Given the description of an element on the screen output the (x, y) to click on. 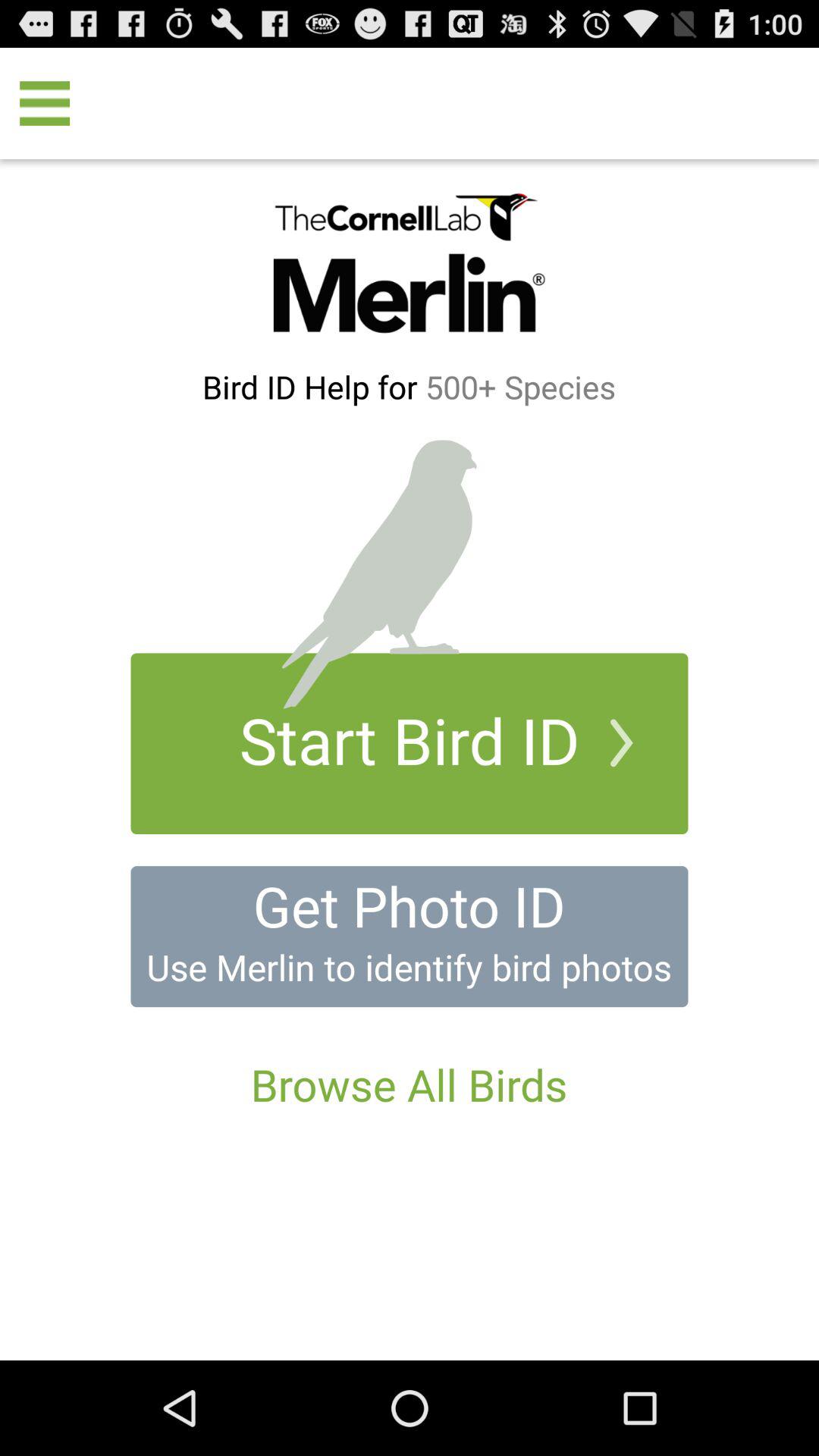
press item above browse all birds icon (409, 936)
